Given the description of an element on the screen output the (x, y) to click on. 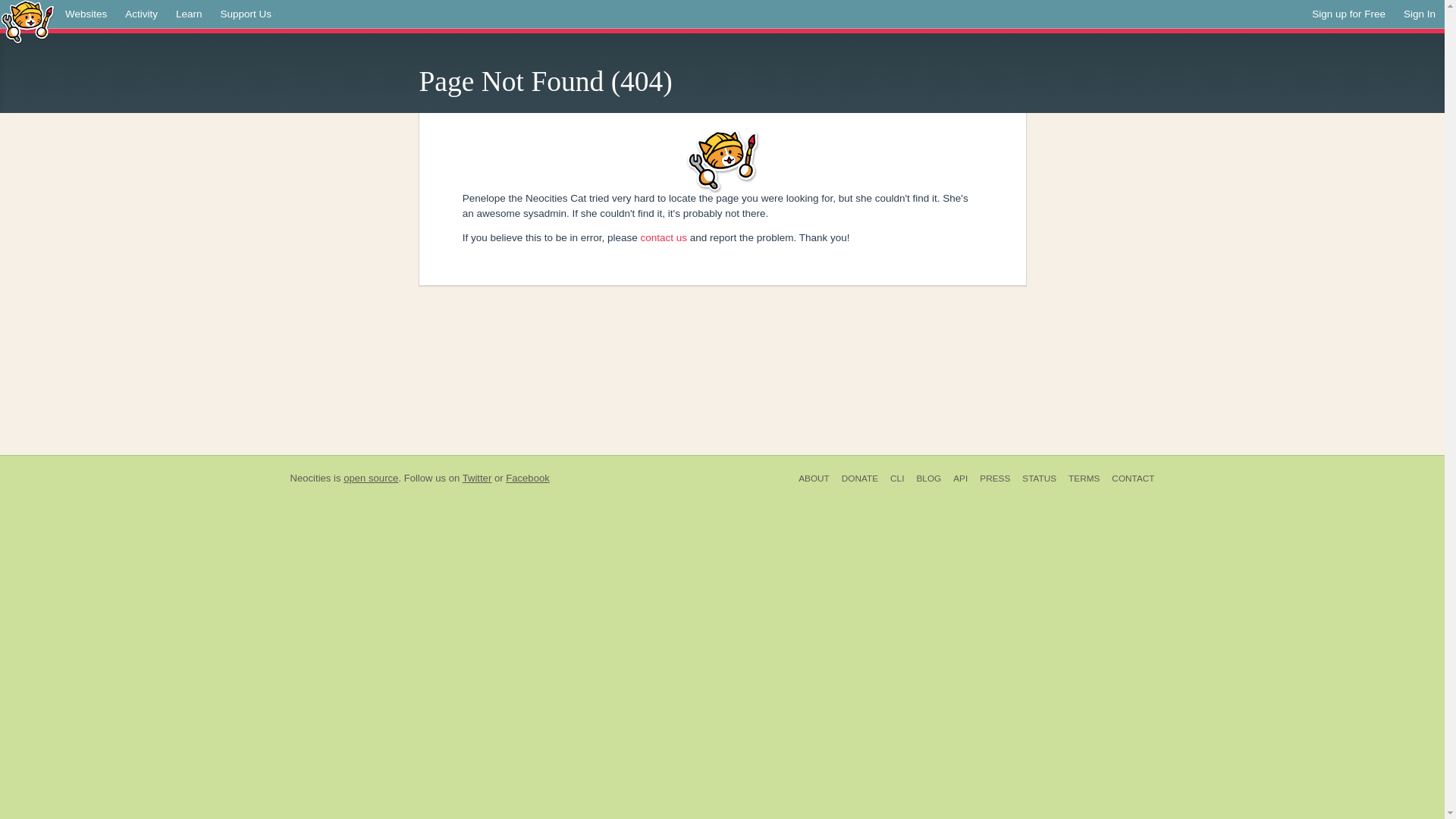
STATUS (1039, 478)
CLI (896, 478)
Facebook (527, 478)
Support Us (248, 13)
CONTACT (1129, 478)
Sign up for Free (1348, 13)
DONATE (859, 478)
Twitter (477, 478)
ABOUT (813, 478)
BLOG (928, 478)
Websites (86, 13)
PRESS (995, 478)
Neocities on GitHub (370, 478)
Neocities.org (309, 478)
open source (370, 478)
